Given the description of an element on the screen output the (x, y) to click on. 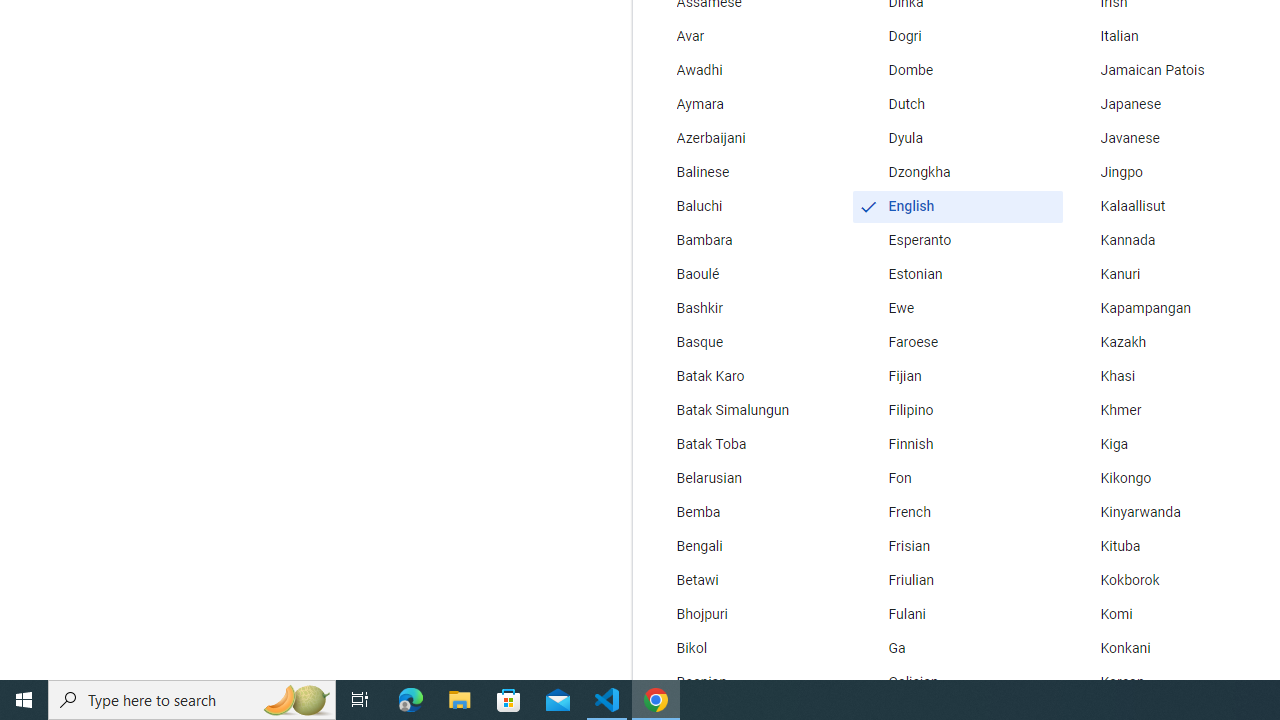
Faroese (957, 342)
Kanuri (1168, 274)
Filipino (957, 410)
French (957, 512)
Estonian (957, 274)
Ga (957, 648)
Friulian (957, 580)
Fijian (957, 376)
Dogri (957, 36)
Batak Toba (745, 444)
Fulani (957, 614)
Kituba (1168, 547)
Bemba (745, 512)
Kalaallisut (1168, 206)
Korean (1168, 682)
